Given the description of an element on the screen output the (x, y) to click on. 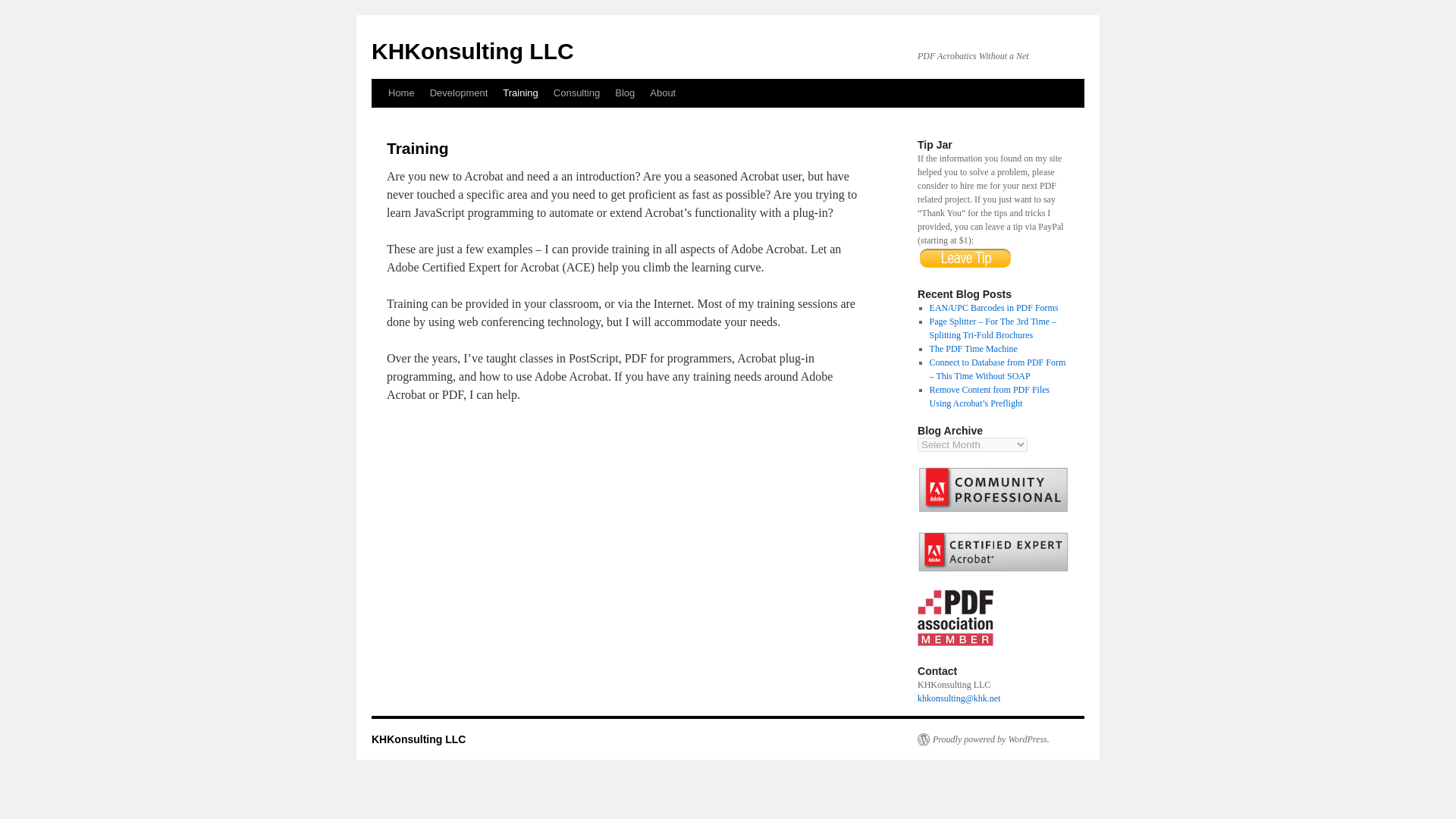
Skip to content (379, 121)
Training (519, 92)
Consulting (576, 92)
About (662, 92)
Skip to content (379, 121)
Blog (624, 92)
Home (401, 92)
The PDF Time Machine (973, 348)
KHKonsulting LLC (472, 50)
KHKonsulting LLC (472, 50)
Development (459, 92)
